Given the description of an element on the screen output the (x, y) to click on. 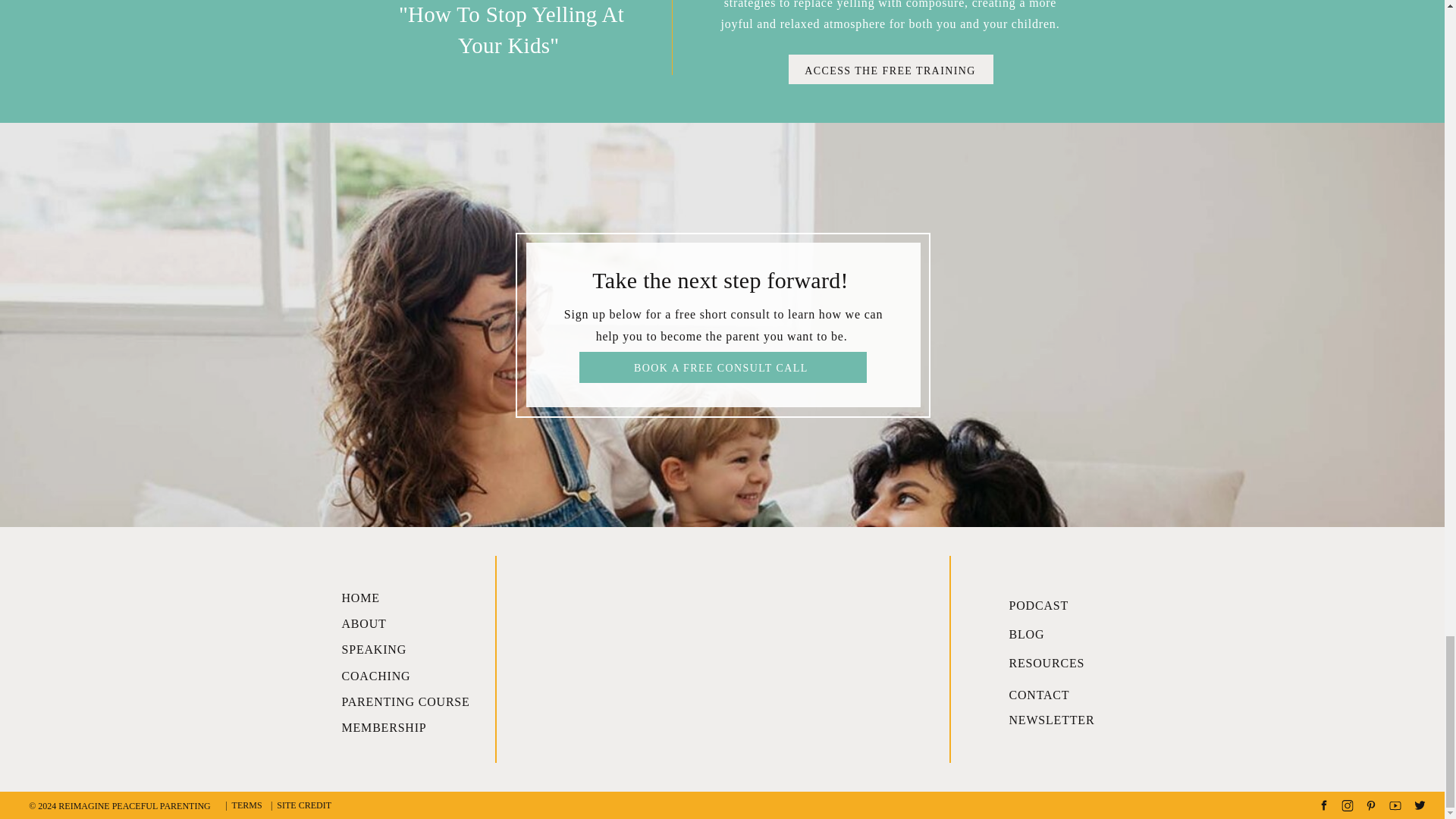
PODCAST (1055, 602)
NEWSLETTER (1055, 716)
SPEAKING (402, 646)
PARENTING COURSE (410, 698)
HOME (402, 594)
MEMBERSHIP (402, 724)
BOOK A FREE CONSULT CALL  (722, 365)
